Given the description of an element on the screen output the (x, y) to click on. 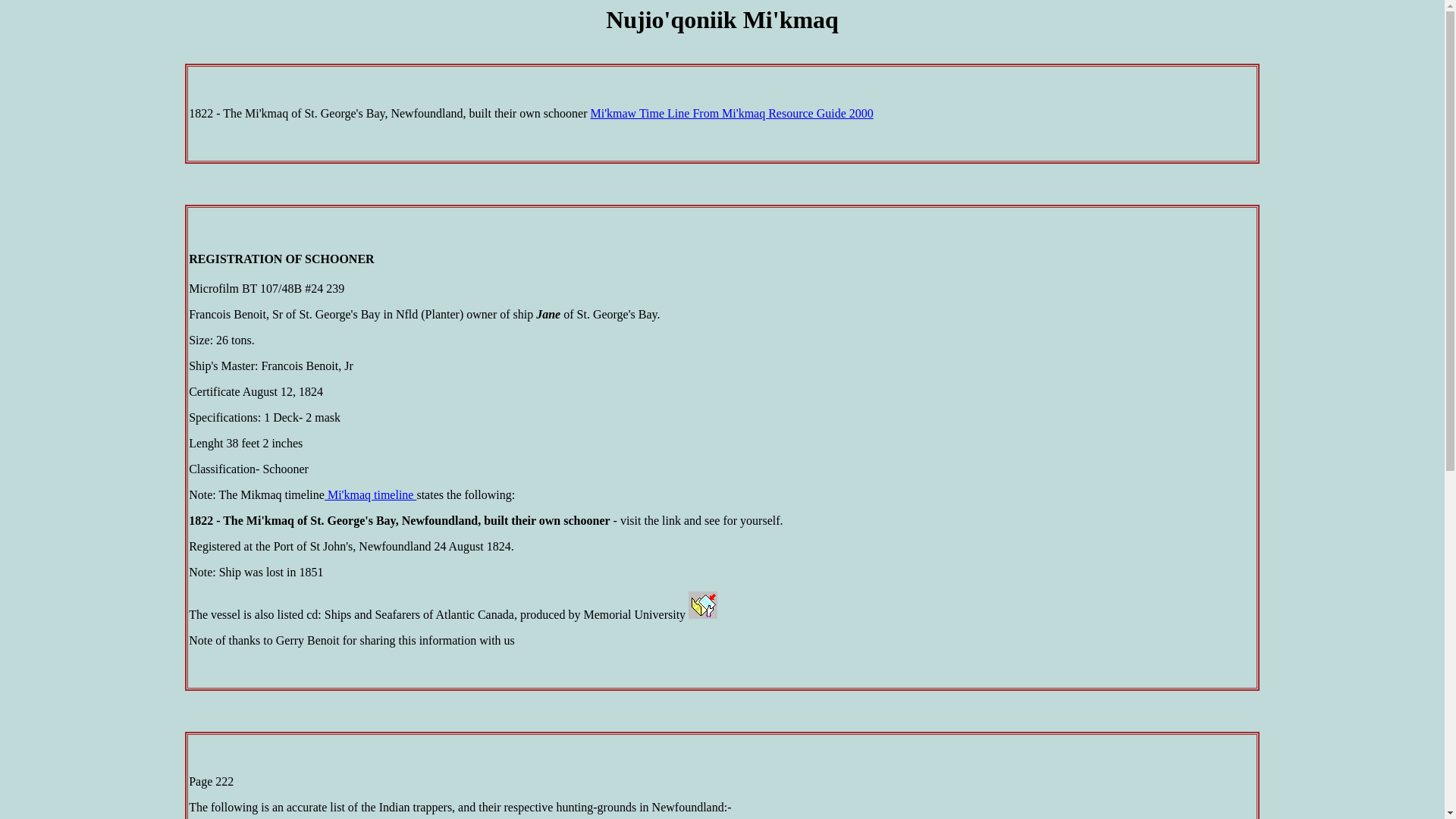
REGISTRATION OF SCHOONER Element type: text (280, 258)
Mi'kmaq timeline Element type: text (370, 494)
Mi'kmaw Time Line From Mi'kmaq Resource Guide 2000 Element type: text (731, 112)
